Given the description of an element on the screen output the (x, y) to click on. 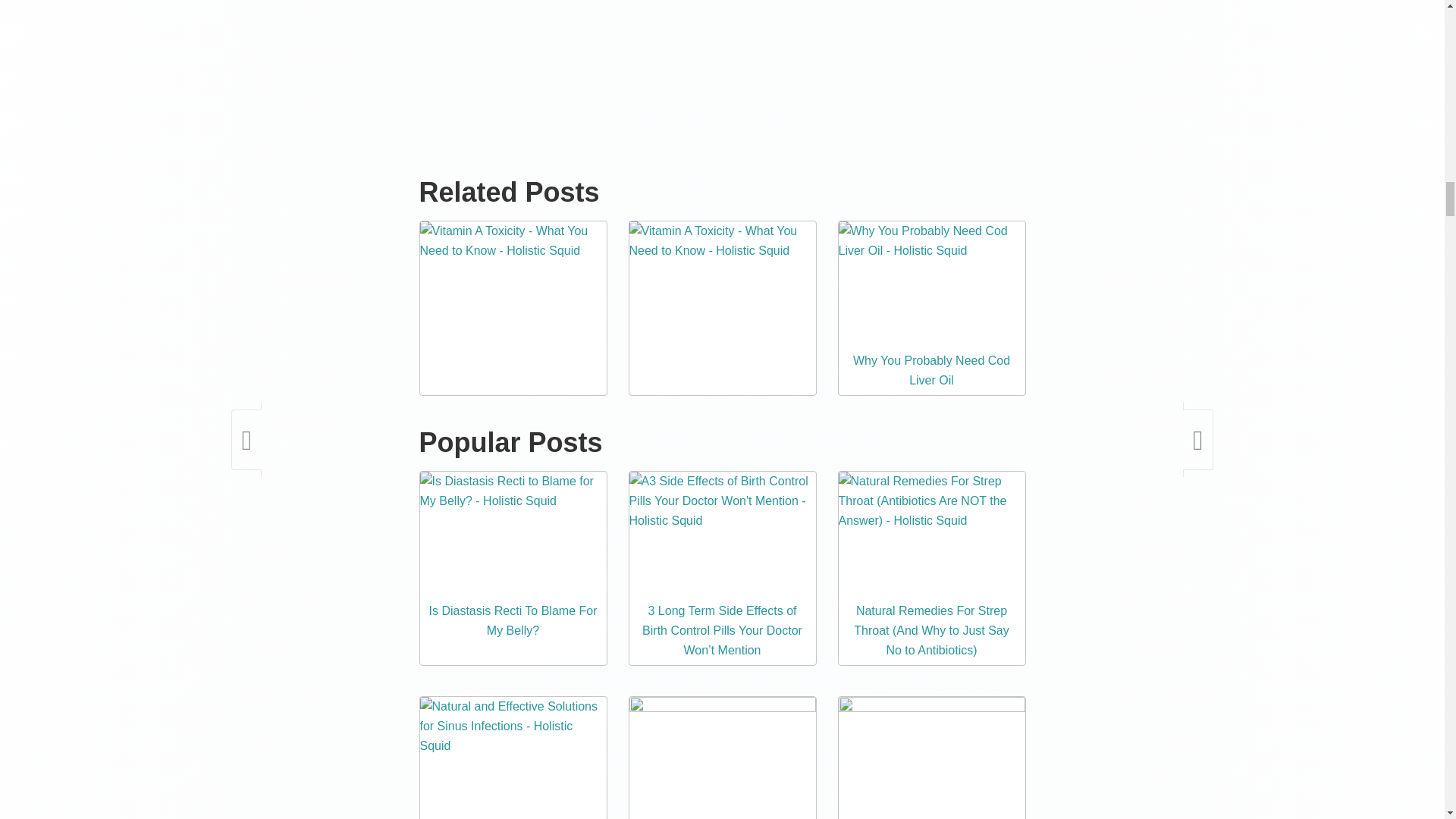
Is Diastasis Recti To Blame For My Belly? (513, 620)
Is Diastasis Recti To Blame For My Belly? (513, 533)
Why I Eat White Rice Instead of Brown (721, 757)
